Given the description of an element on the screen output the (x, y) to click on. 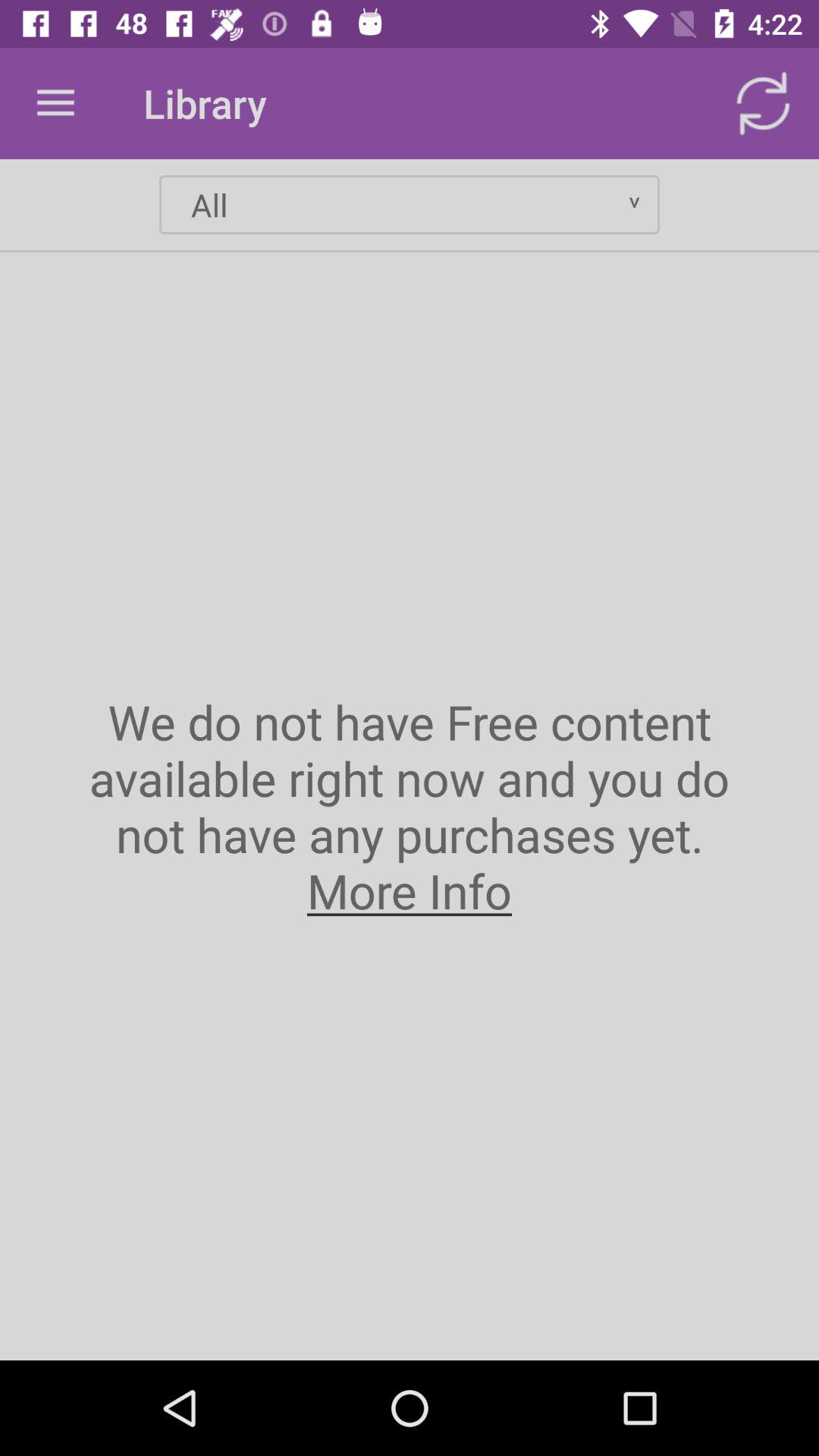
click item next to the library item (763, 103)
